Given the description of an element on the screen output the (x, y) to click on. 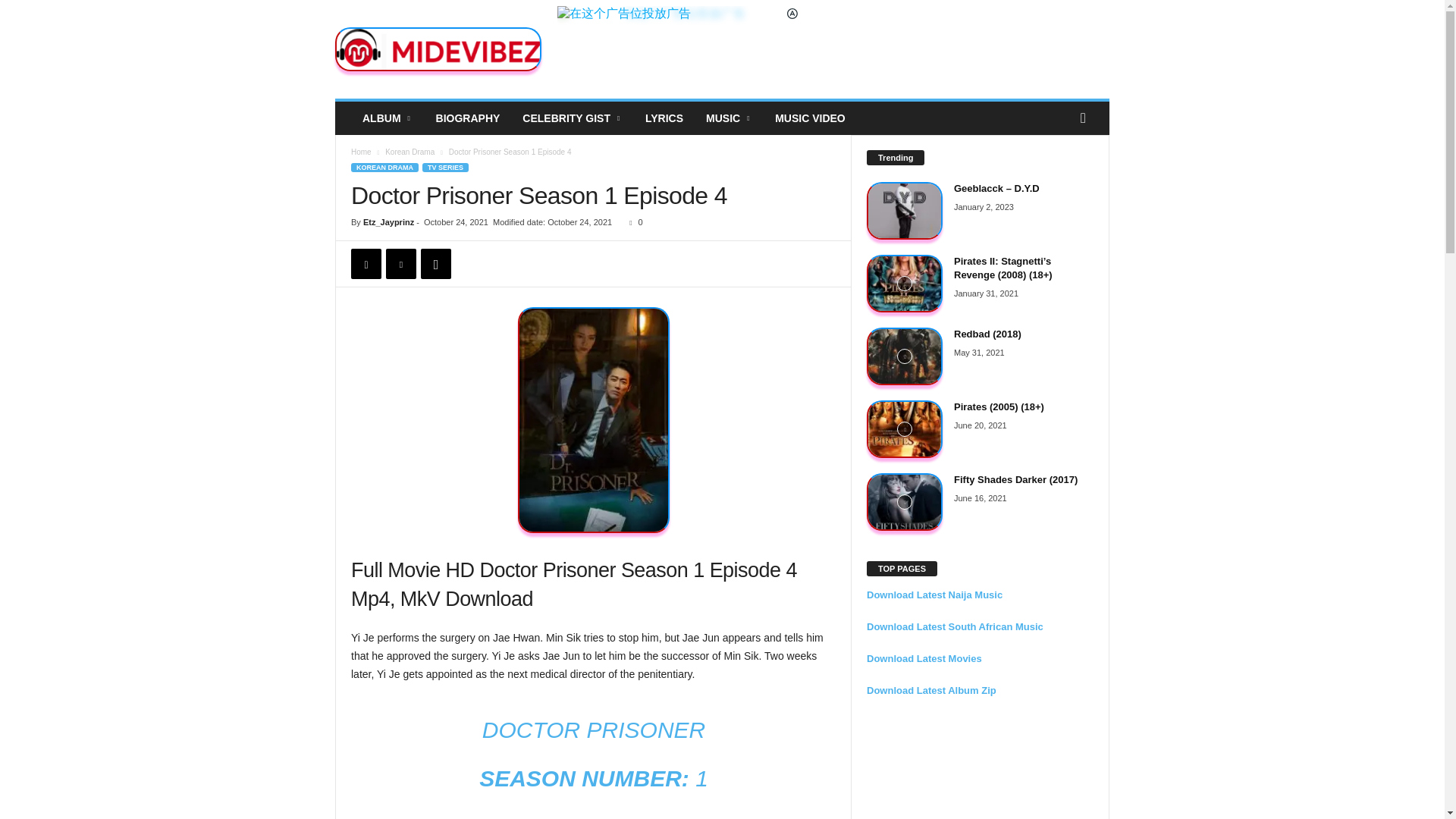
Twitter (400, 263)
BIOGRAPHY (468, 118)
MideVibez (437, 48)
MUSIC (728, 118)
CELEBRITY GIST (572, 118)
WhatsApp (435, 263)
Facebook (365, 263)
View all posts in Korean Drama (409, 152)
LYRICS (663, 118)
ALBUM (387, 118)
